Given the description of an element on the screen output the (x, y) to click on. 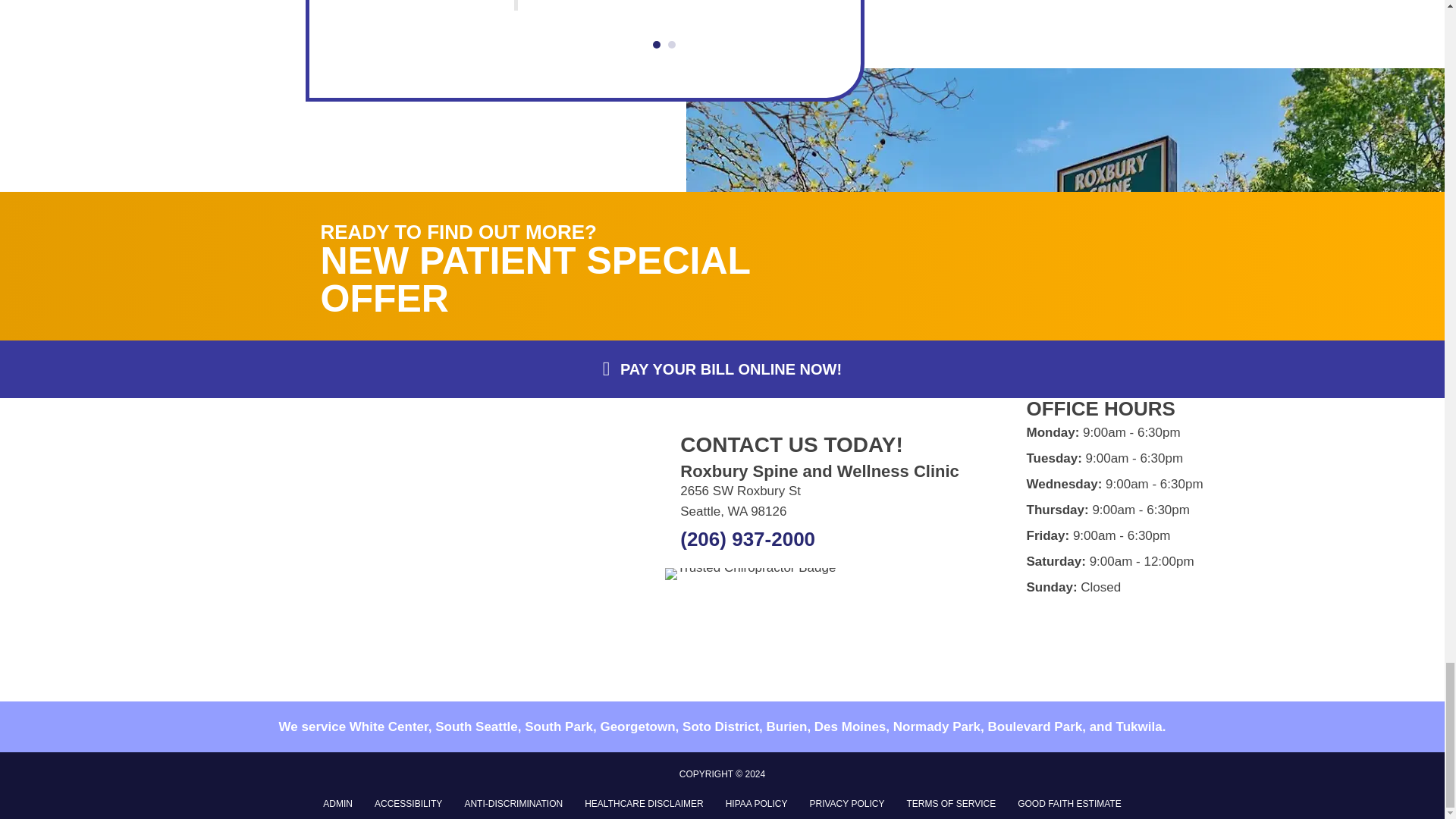
Trusted Chiropractor Badge (750, 573)
